Given the description of an element on the screen output the (x, y) to click on. 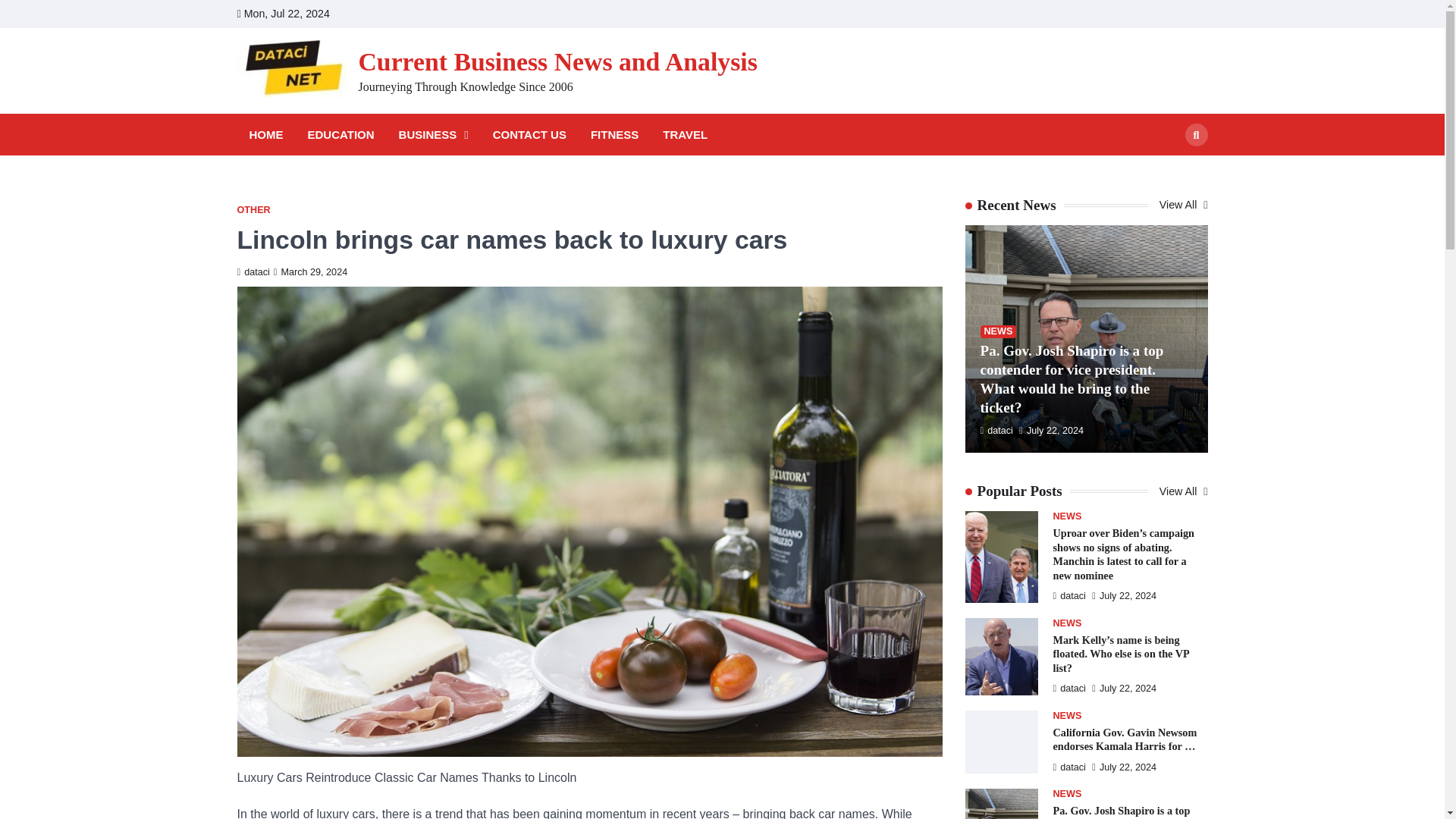
OTHER (252, 210)
View All (1183, 205)
CONTACT US (529, 135)
FITNESS (615, 135)
Sitemaps (1199, 14)
Privacy Policy (1154, 14)
About Us (1131, 14)
March 29, 2024 (310, 271)
Current Business News and Analysis (557, 61)
BUSINESS (433, 135)
TRAVEL (684, 135)
Search (1168, 169)
Home (1085, 14)
Contack US (1108, 14)
Search (1196, 134)
